Given the description of an element on the screen output the (x, y) to click on. 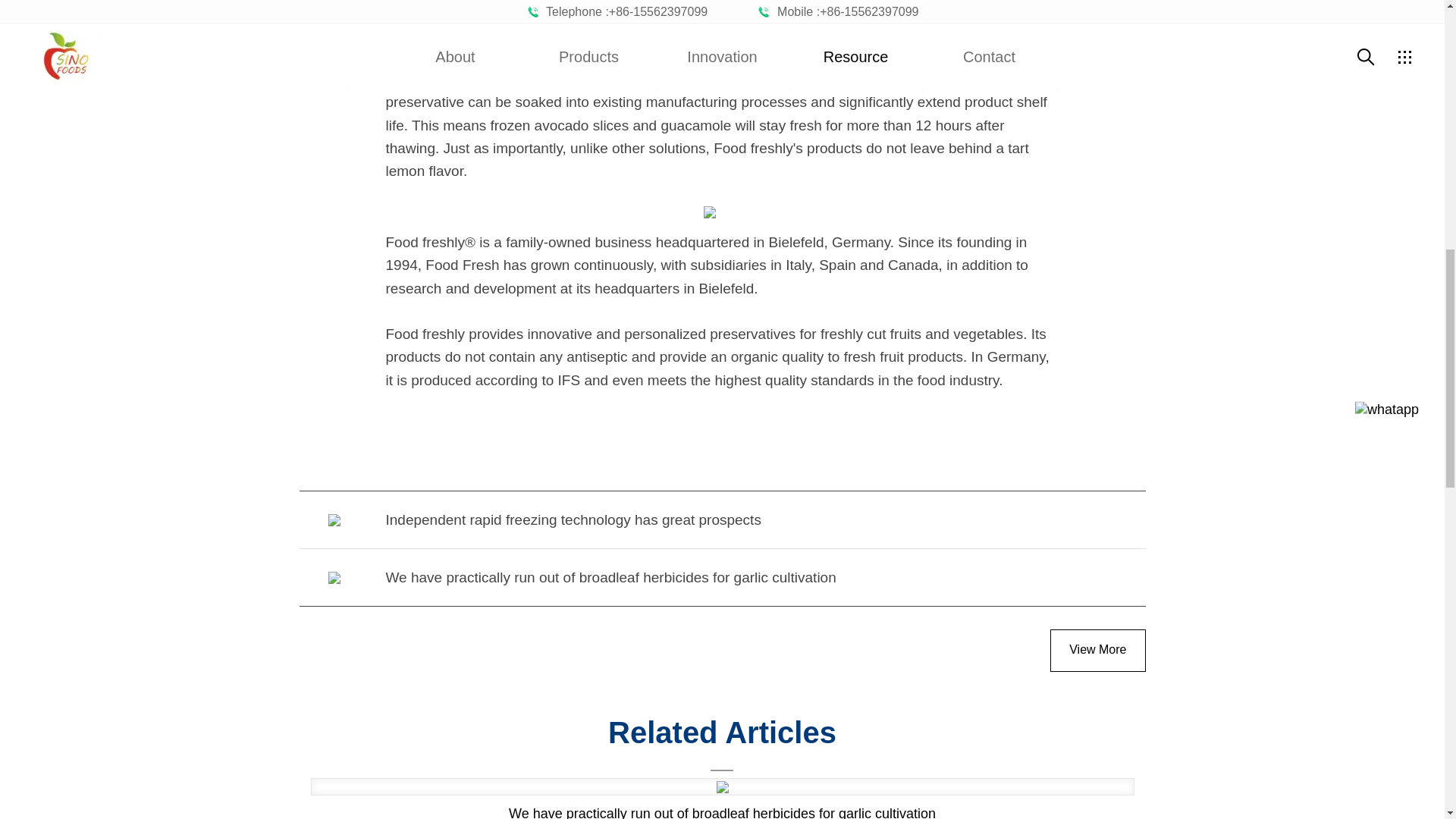
Next (721, 577)
Prev (721, 519)
